Given the description of an element on the screen output the (x, y) to click on. 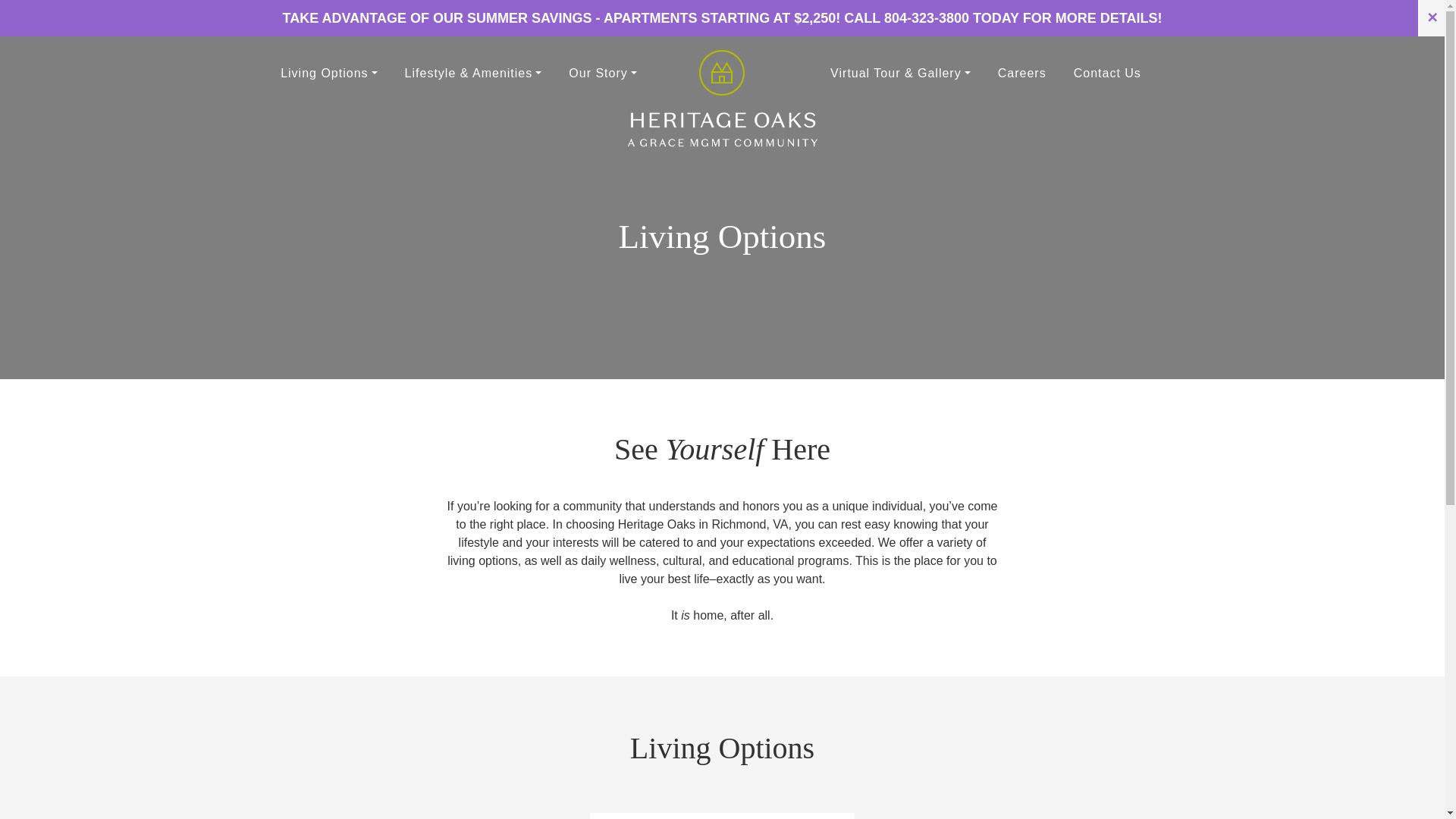
Our Story (602, 72)
Careers (1021, 72)
Contact Us (1106, 72)
Our Story (602, 72)
Living Options (328, 72)
Living Options (328, 72)
